Given the description of an element on the screen output the (x, y) to click on. 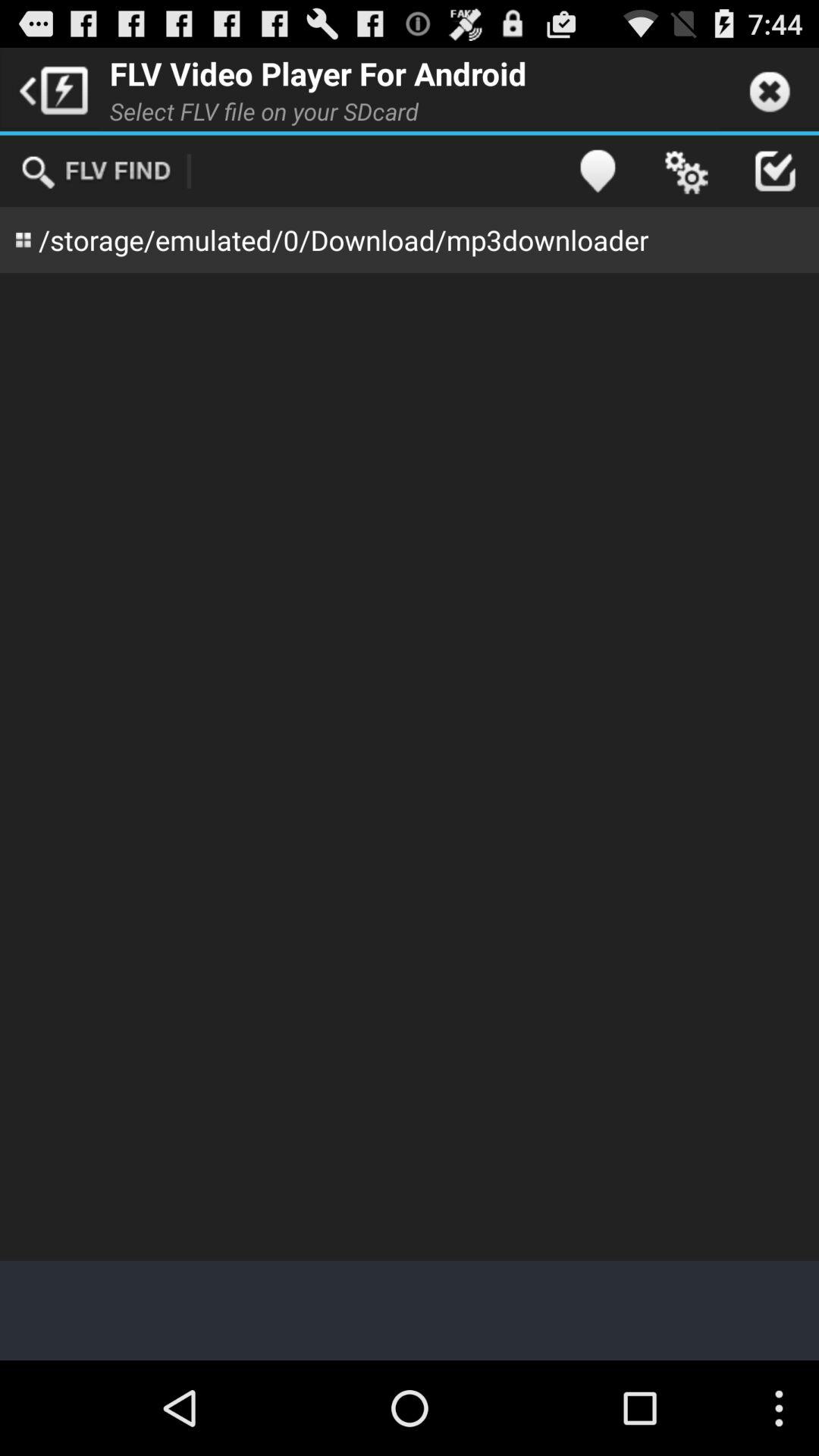
select the app to the left of the flv video player app (49, 89)
